Given the description of an element on the screen output the (x, y) to click on. 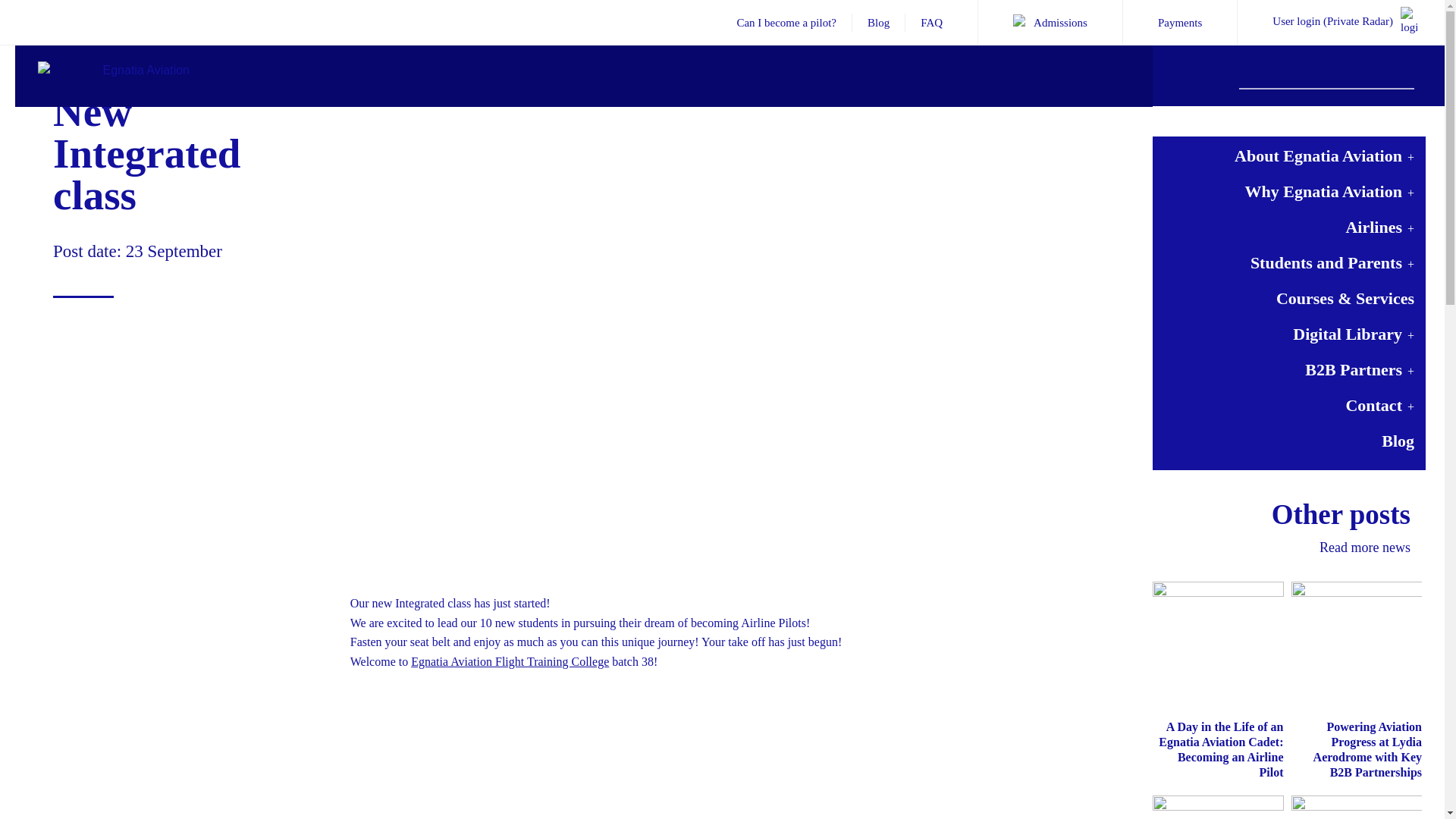
Students and Parents (1289, 261)
Digital Library (1289, 332)
Payments (1179, 22)
Admissions (1050, 22)
Airlines (1289, 225)
About Egnatia Aviation (1289, 153)
Search (1404, 75)
Can I become a pilot? (785, 22)
FAQ (931, 22)
Why Egnatia Aviation (1289, 189)
